Given the description of an element on the screen output the (x, y) to click on. 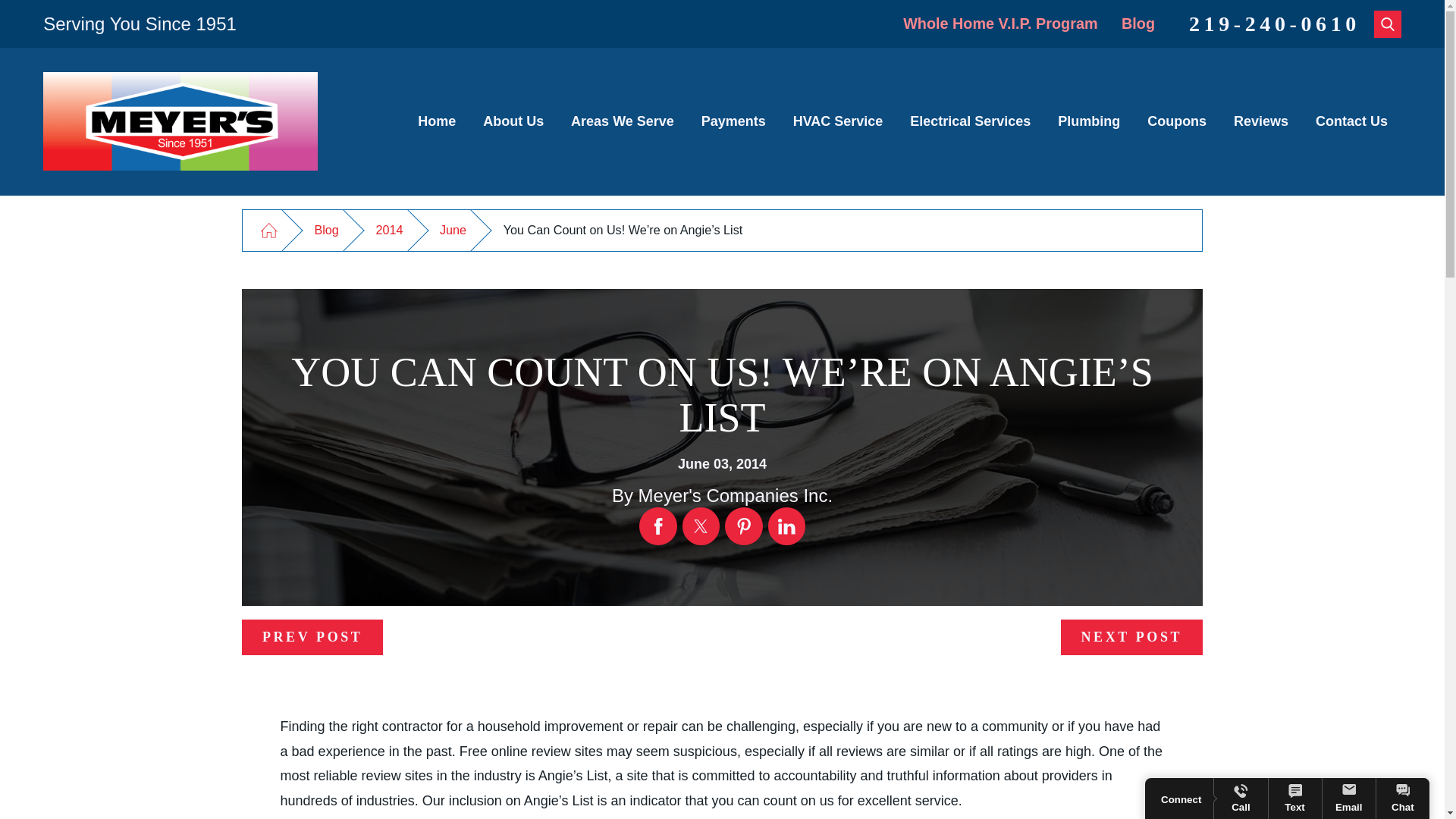
219-240-0610 (1274, 23)
Meyers Companies, Inc. (180, 121)
Blog (1137, 23)
Go Home (269, 229)
Search Icon (1387, 23)
Search Our Site (1387, 23)
Whole Home V.I.P. Program (999, 23)
